Given the description of an element on the screen output the (x, y) to click on. 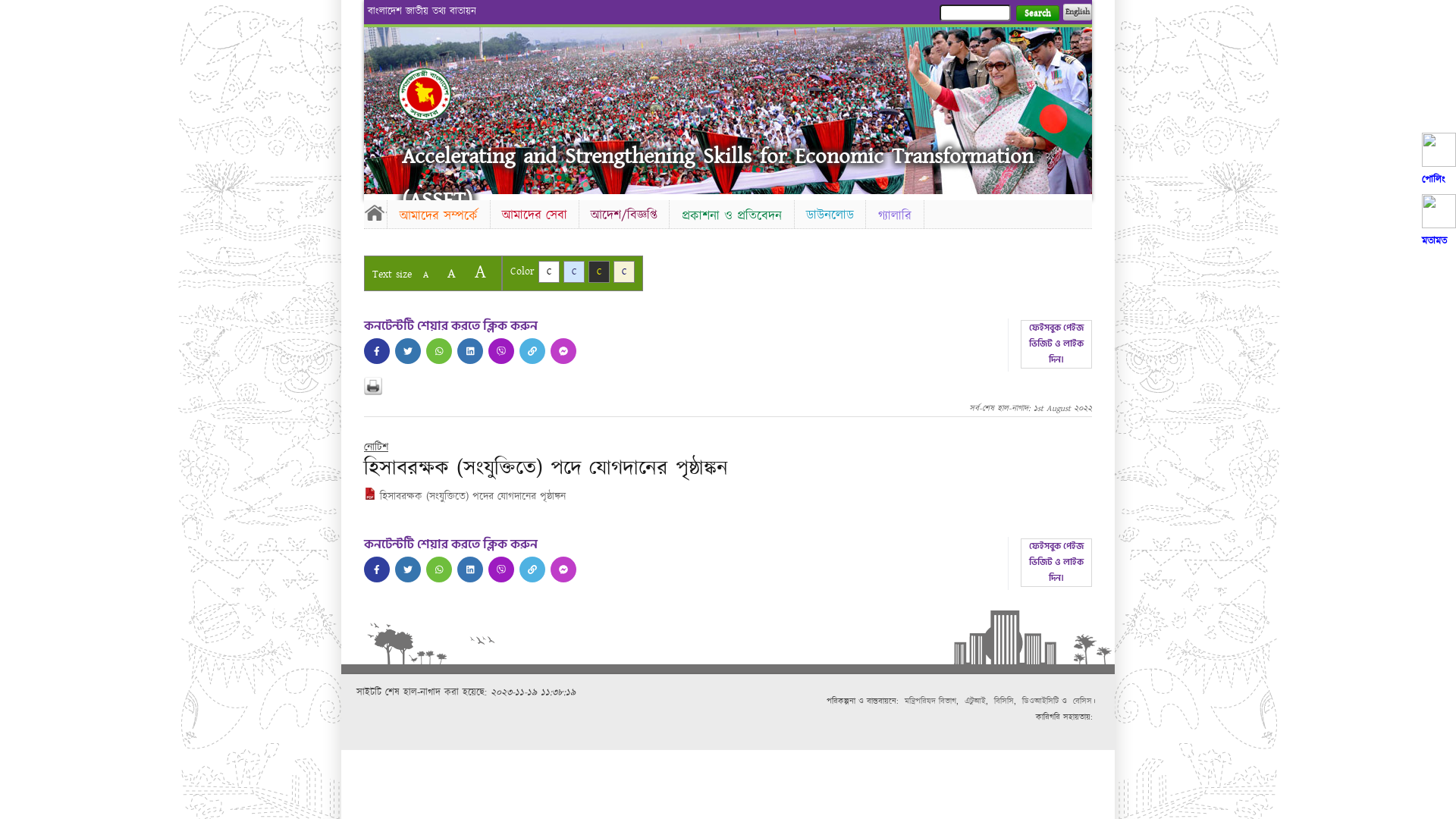
English Element type: text (1077, 11)
A Element type: text (480, 271)
C Element type: text (548, 271)
Search Element type: text (1037, 13)
C Element type: text (598, 271)
Home Element type: hover (375, 211)
A Element type: text (425, 274)
C Element type: text (573, 271)
C Element type: text (623, 271)
A Element type: text (451, 273)
Home Element type: hover (424, 93)
